Given the description of an element on the screen output the (x, y) to click on. 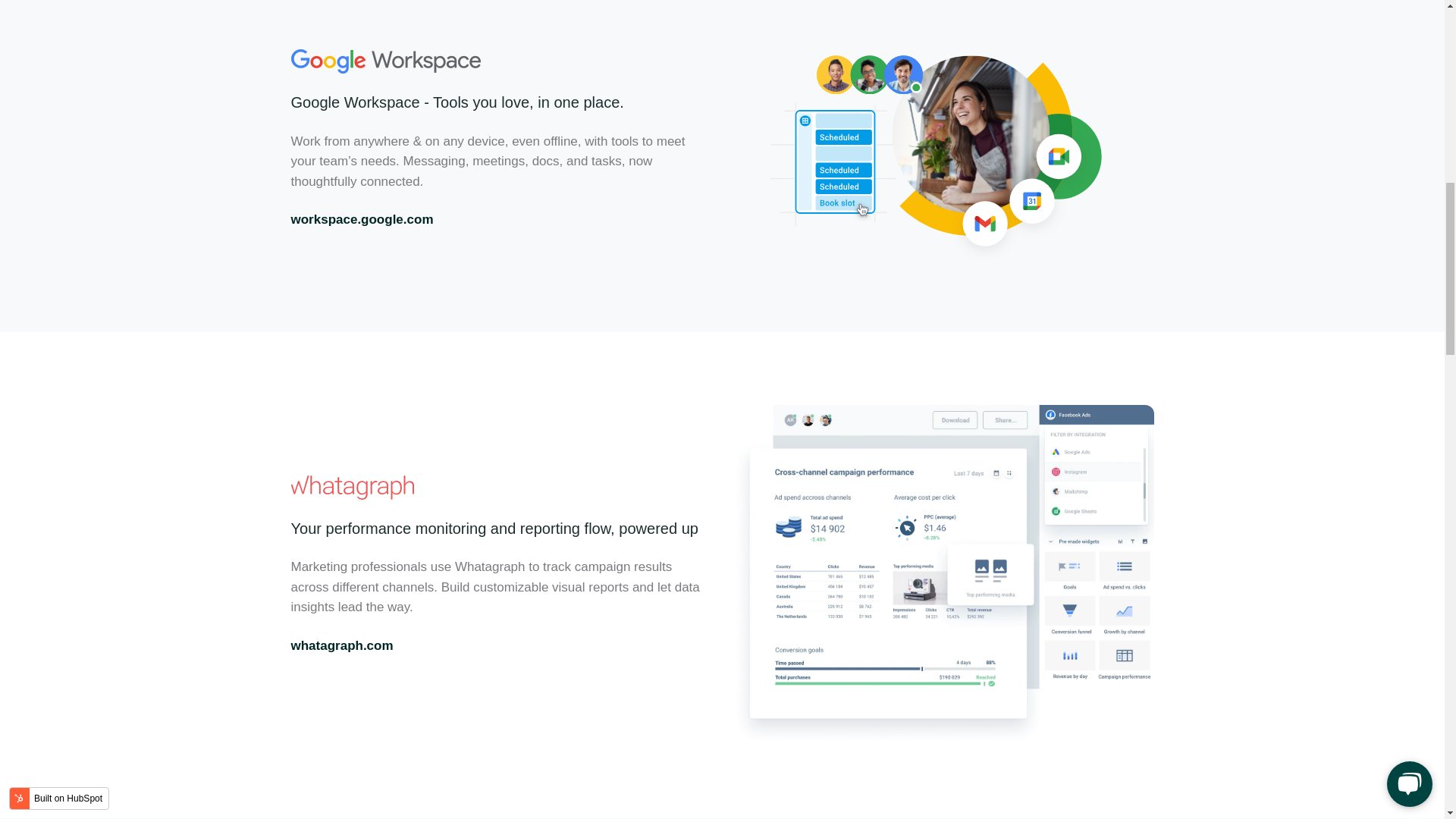
whatagraph.com (342, 645)
workspace.google.com (362, 219)
